Given the description of an element on the screen output the (x, y) to click on. 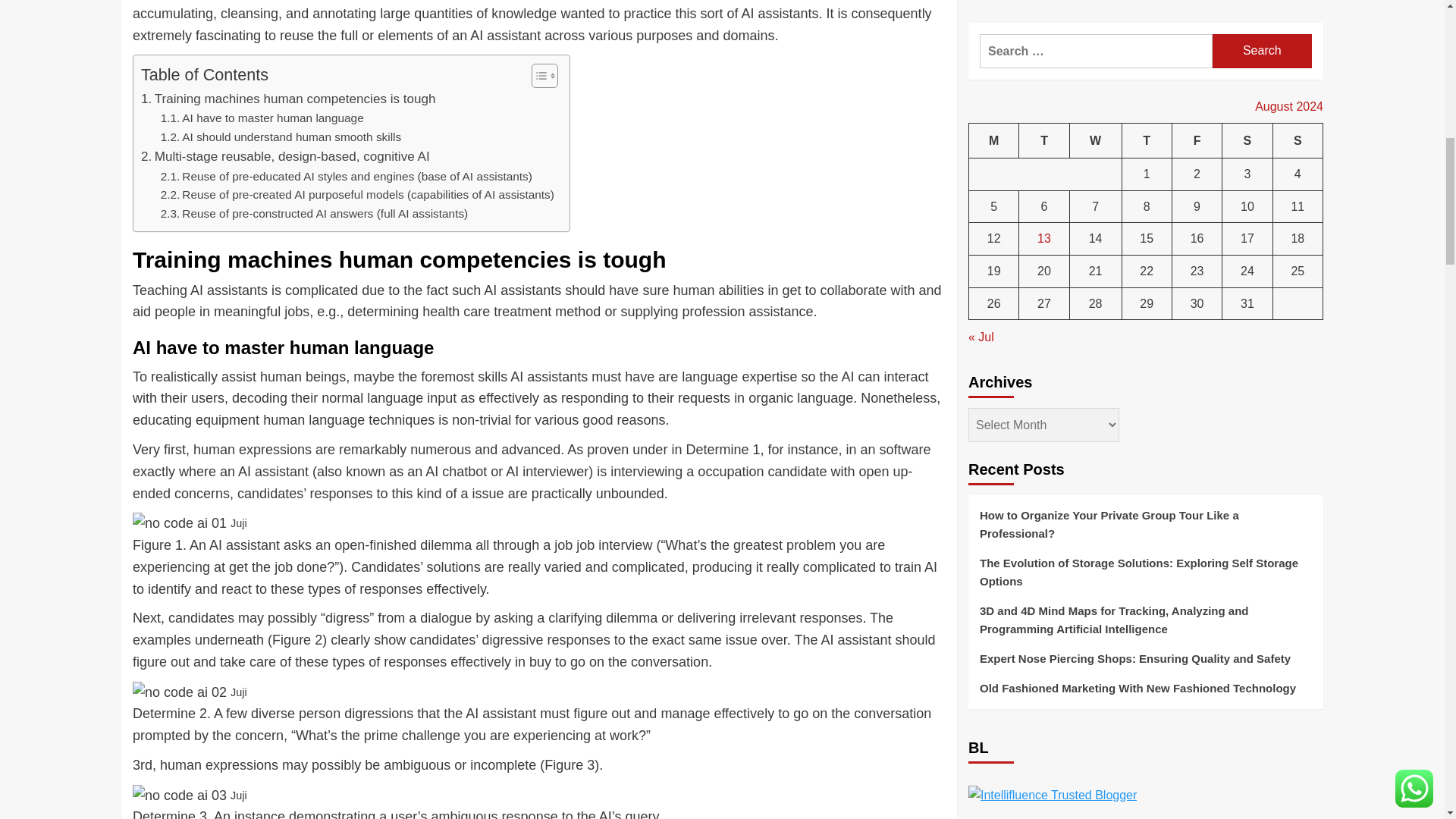
Training machines human competencies is tough (288, 98)
Multi-stage reusable, design-based, cognitive AI (285, 156)
Training machines human competencies is tough (288, 98)
AI have to master human language (262, 117)
AI should understand human smooth skills (280, 137)
AI have to master human language (262, 117)
Multi-stage reusable, design-based, cognitive AI (285, 156)
AI should understand human smooth skills (280, 137)
